Given the description of an element on the screen output the (x, y) to click on. 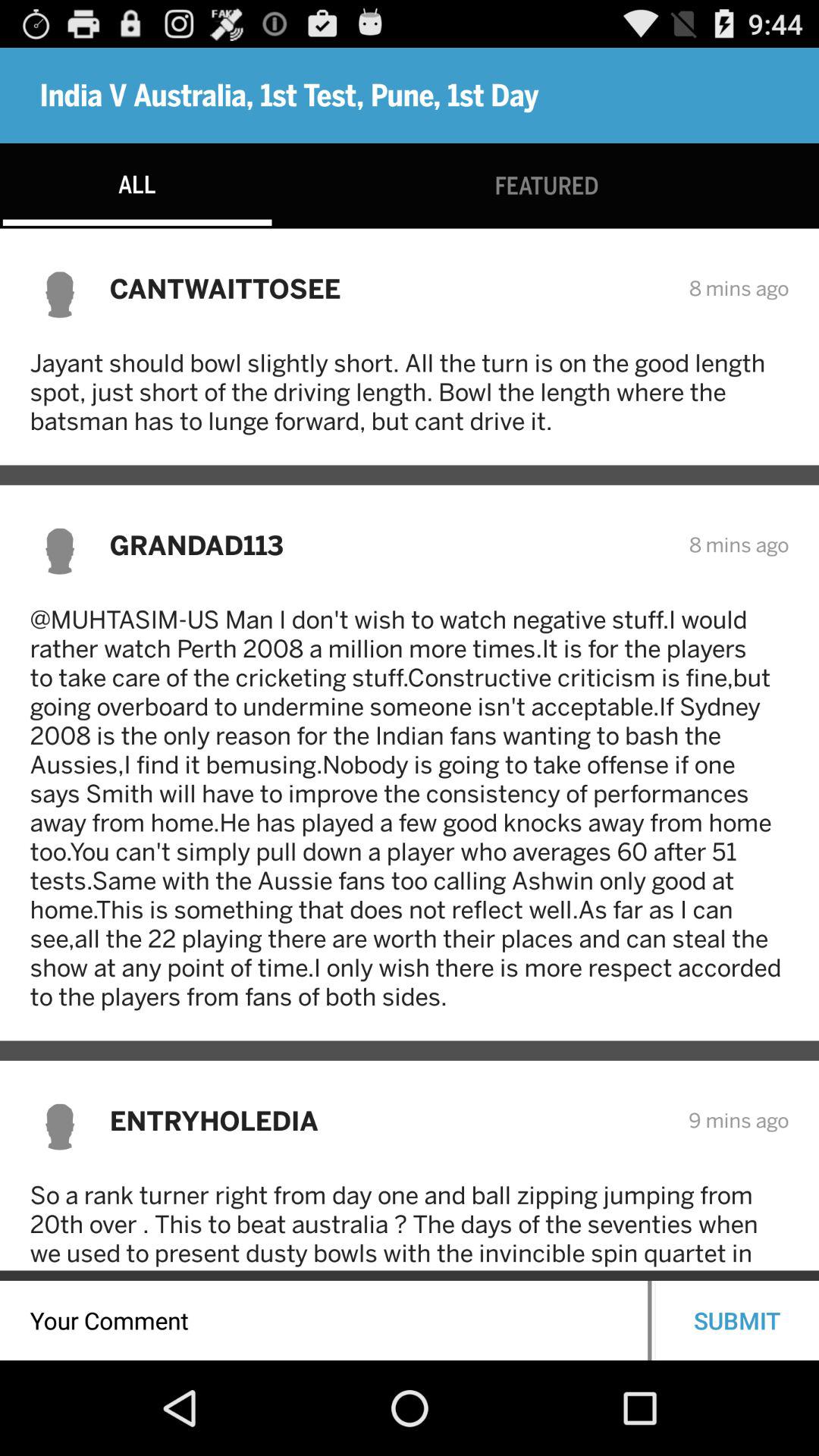
choose the item next to the 9 mins ago (388, 1120)
